Given the description of an element on the screen output the (x, y) to click on. 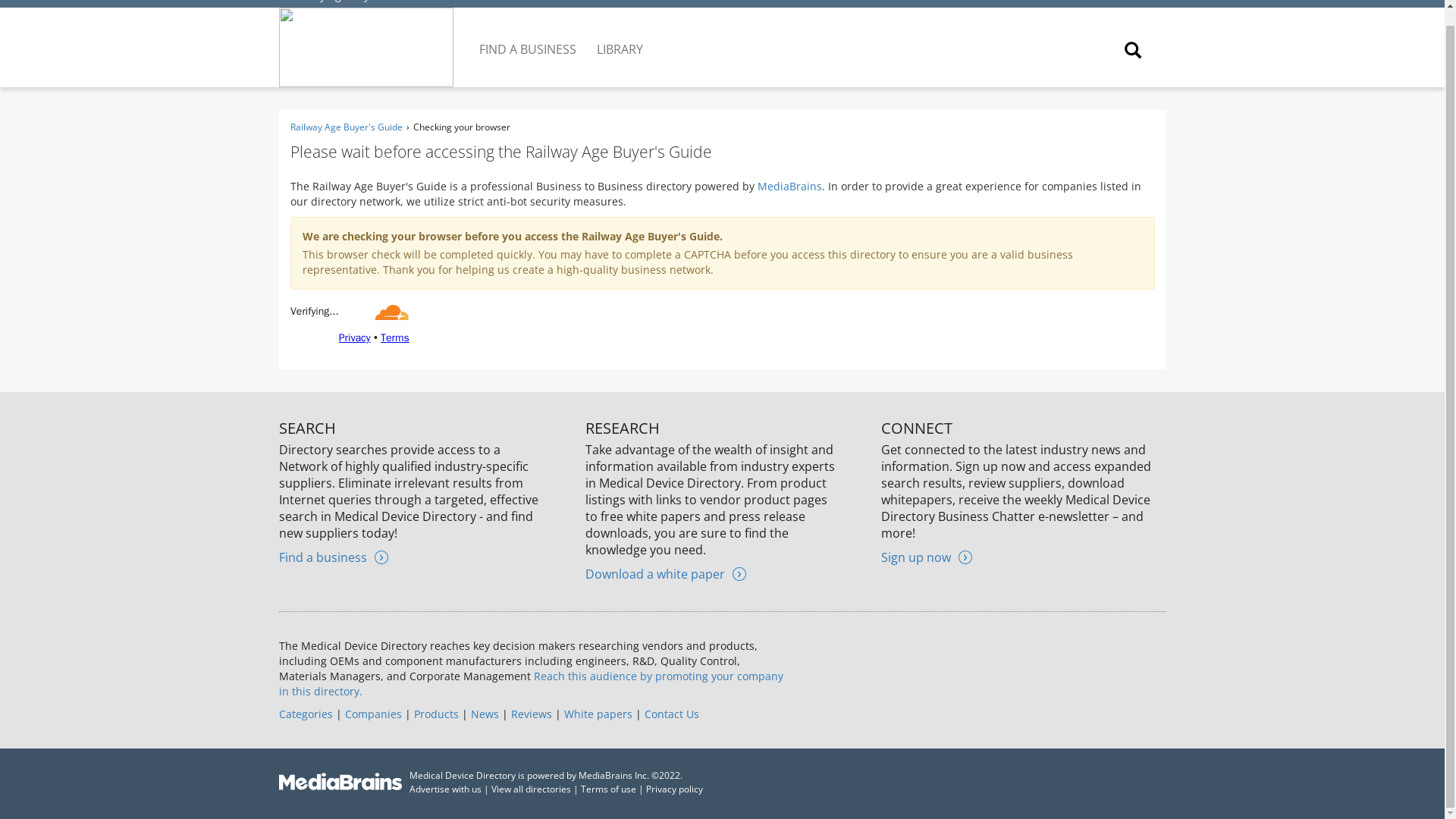
Companies (372, 713)
MediaBrains (789, 186)
Reviews (531, 713)
LIBRARY (620, 37)
View all directories (531, 788)
Categories (306, 713)
Terms of use (608, 788)
Download a white paper (665, 573)
Advertise with us (445, 788)
White papers (597, 713)
Sign up now (926, 556)
FIND A BUSINESS (528, 37)
Railway Age Buyer's Guide (353, 1)
Railway Age Buyer's Guide (345, 126)
